Given the description of an element on the screen output the (x, y) to click on. 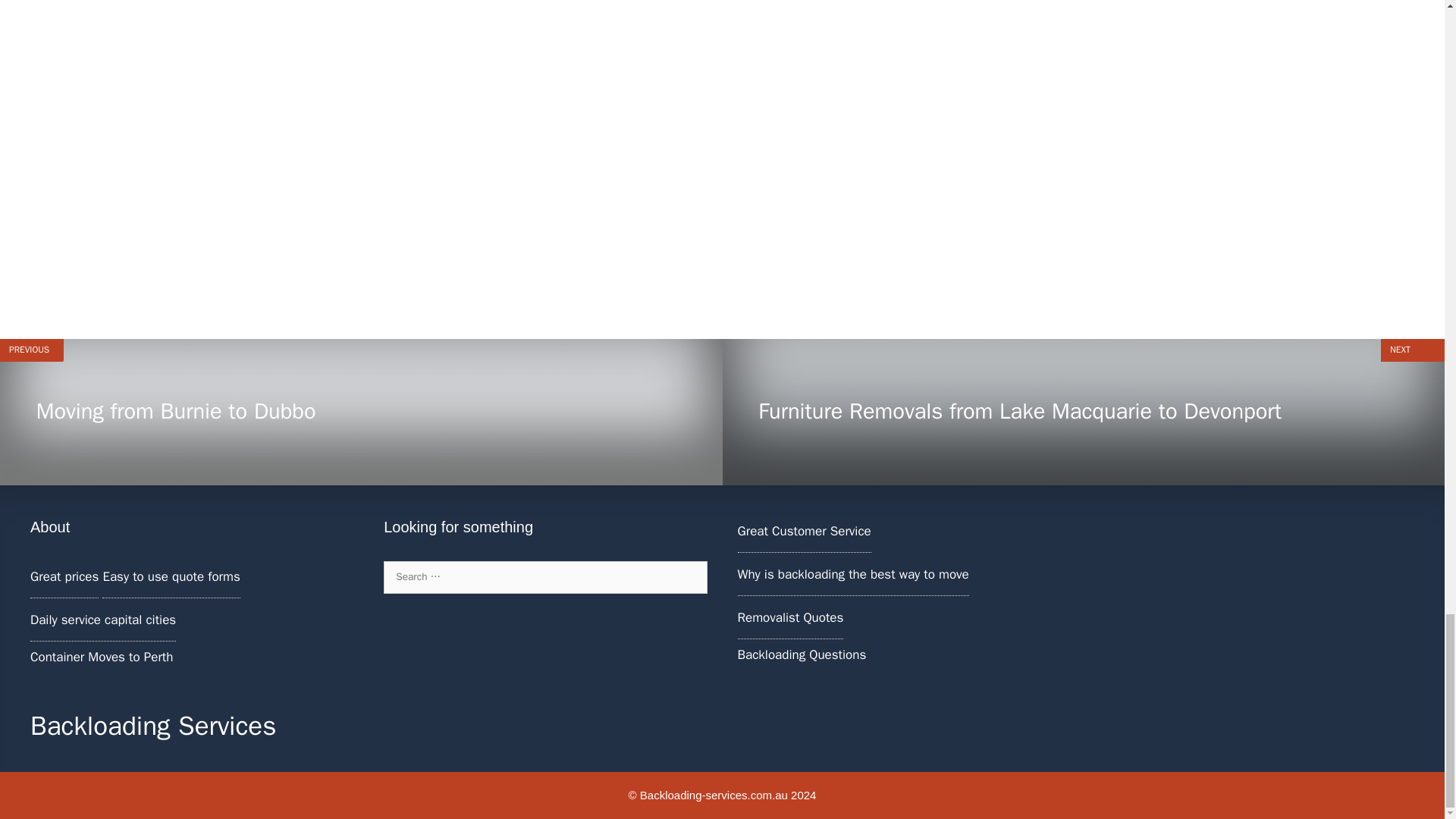
Why is backloading the best way to move (852, 574)
Backloading Questions (801, 654)
Search for: (545, 576)
Removalist Quotes (361, 412)
Great Customer Service (789, 617)
